Given the description of an element on the screen output the (x, y) to click on. 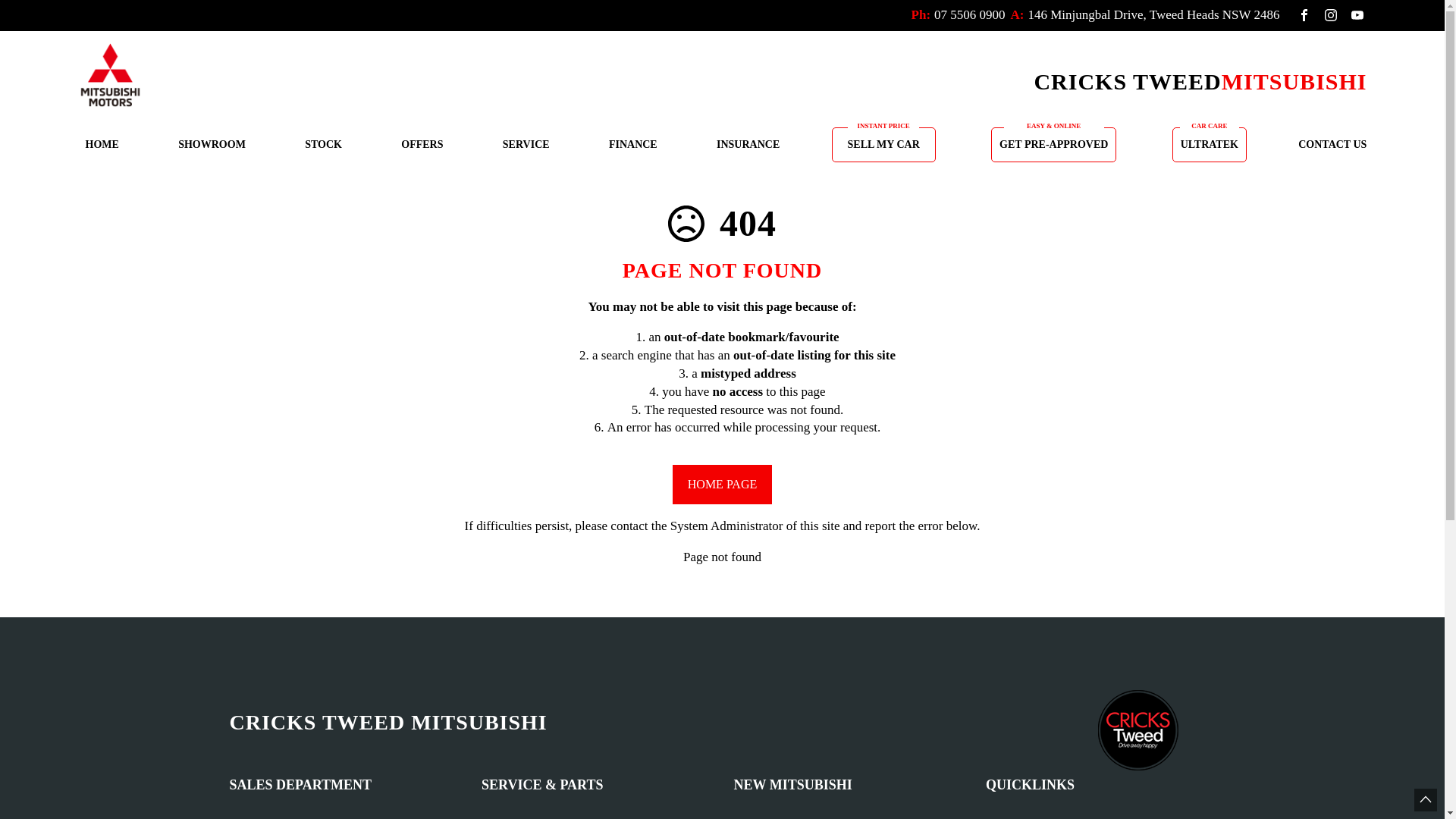
ULTRATEK Element type: text (1209, 144)
GET PRE-APPROVED Element type: text (1053, 144)
SHOWROOM Element type: text (211, 144)
CONTACT US Element type: text (1328, 144)
STOCK Element type: text (323, 144)
INSURANCE Element type: text (748, 144)
SELL MY CAR Element type: text (883, 144)
HOME PAGE Element type: text (721, 484)
HOME Element type: text (101, 144)
146 Minjungbal Drive, Tweed Heads NSW 2486 Element type: text (1154, 14)
OFFERS Element type: text (421, 144)
SERVICE Element type: text (526, 144)
FINANCE Element type: text (633, 144)
07 5506 0900 Element type: text (969, 14)
